Given the description of an element on the screen output the (x, y) to click on. 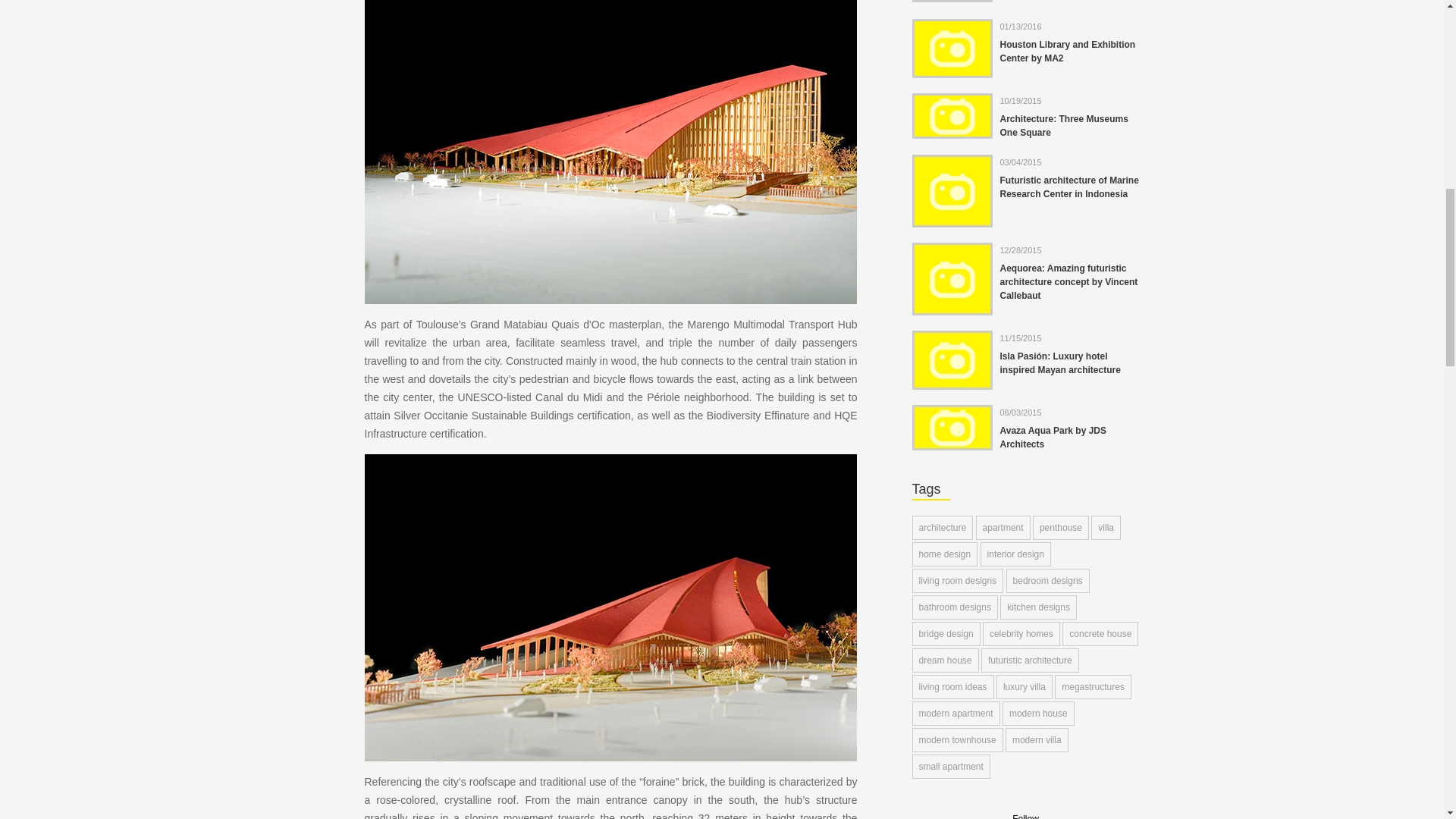
Caldera House by Carney Logan Burke Architects (1173, 318)
